Given the description of an element on the screen output the (x, y) to click on. 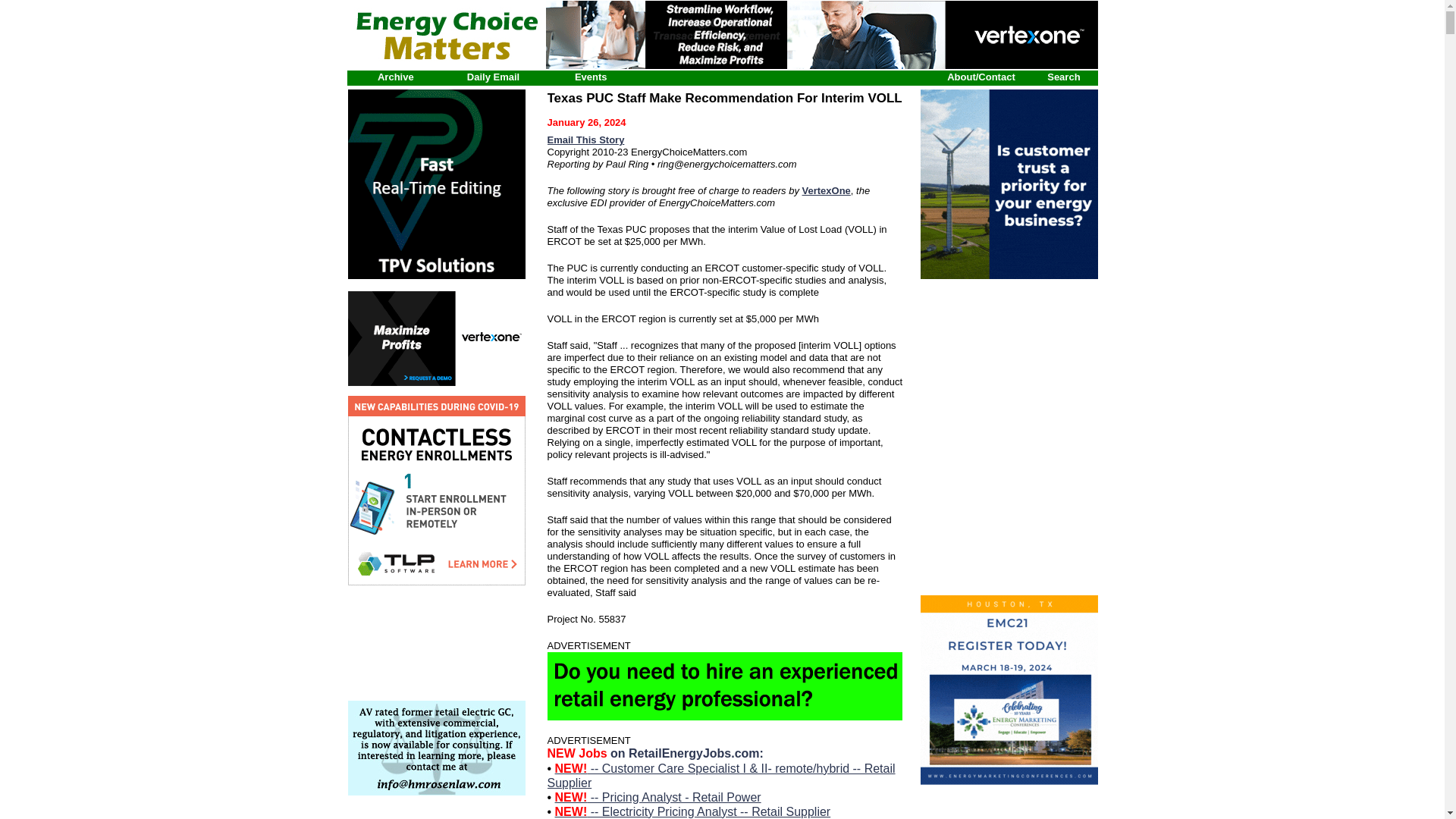
NEW! -- Pricing Analyst - Retail Power (657, 797)
VertexOne (826, 190)
Email This Story (585, 139)
NEW! -- Electricity Pricing Analyst -- Retail Supplier (692, 811)
Search (1063, 76)
NEW Jobs on RetailEnergyJobs.com: (654, 753)
Daily Email (493, 76)
Events (591, 76)
Archive (395, 76)
